Given the description of an element on the screen output the (x, y) to click on. 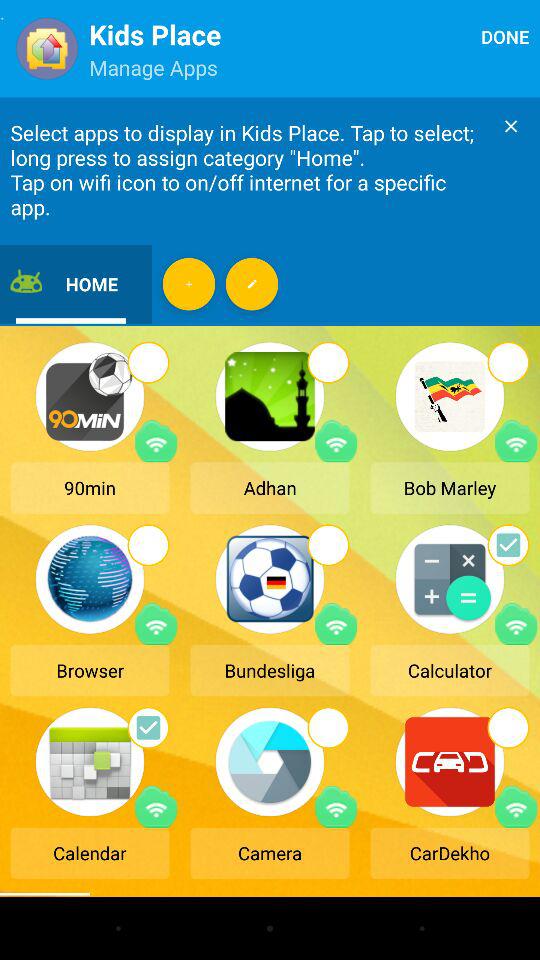
wifi icon (156, 441)
